Given the description of an element on the screen output the (x, y) to click on. 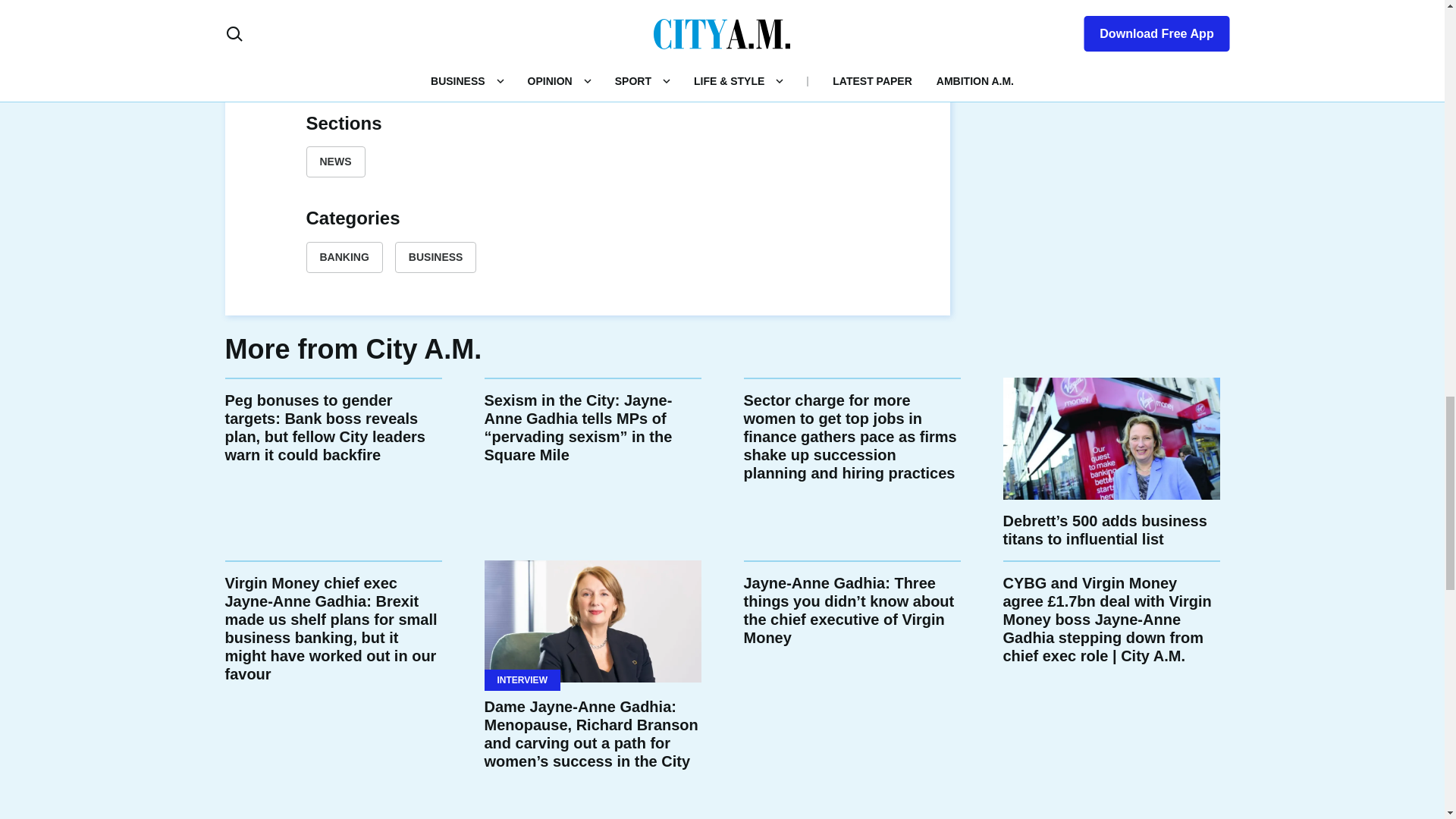
Facebook (513, 74)
WhatsApp (622, 74)
Email (659, 74)
X (550, 74)
LinkedIn (586, 74)
